Given the description of an element on the screen output the (x, y) to click on. 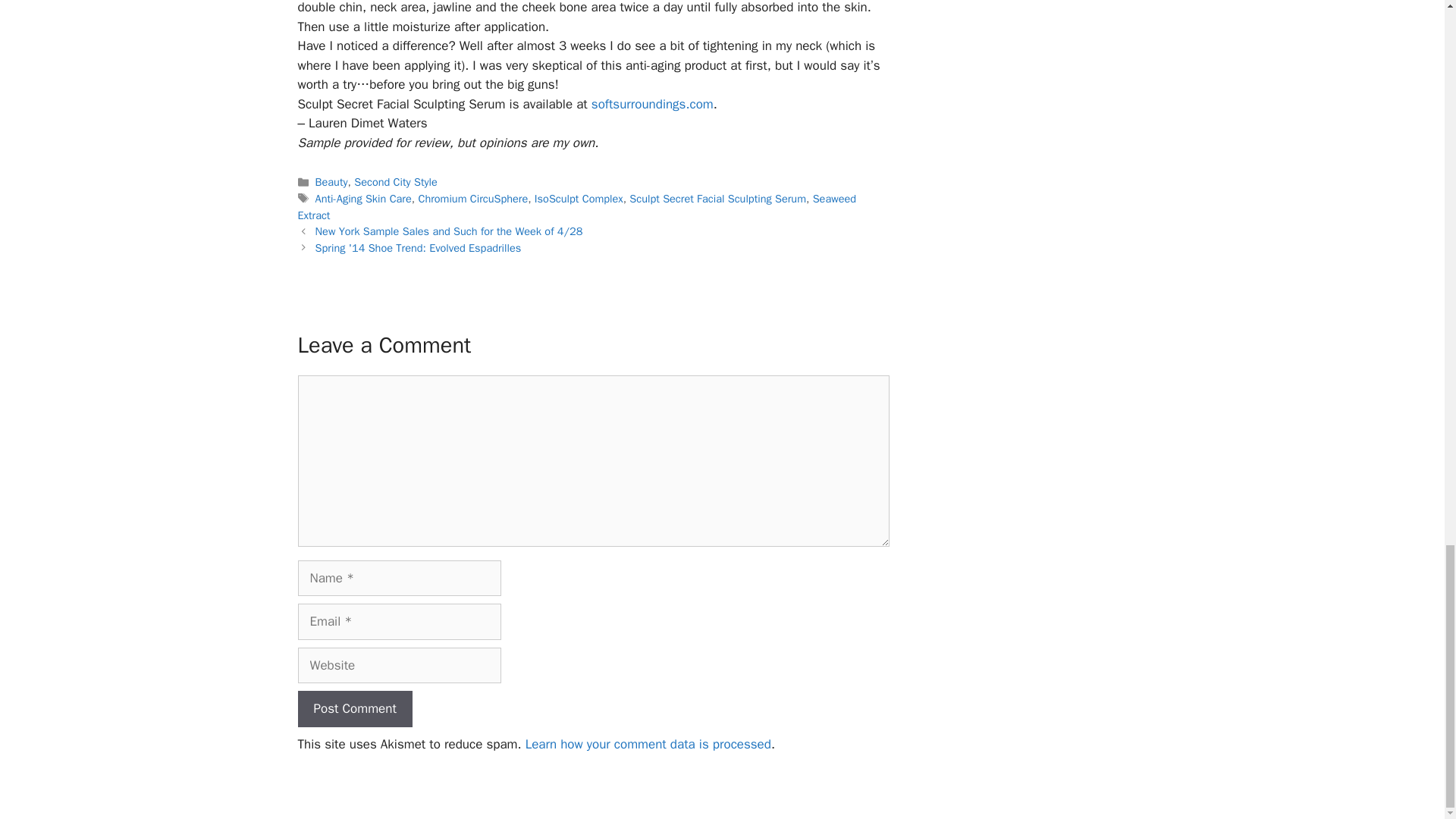
Spring '14 Shoe Trend: Evolved Espadrilles (418, 247)
Seaweed Extract (576, 206)
Anti-Aging Skin Care (363, 198)
softsurroundings.com (652, 104)
Second City Style (395, 182)
Post Comment (354, 709)
Chromium CircuSphere (472, 198)
IsoSculpt Complex (578, 198)
Sculpt Secret Facial Sculpting Serum (717, 198)
Beauty (331, 182)
